Given the description of an element on the screen output the (x, y) to click on. 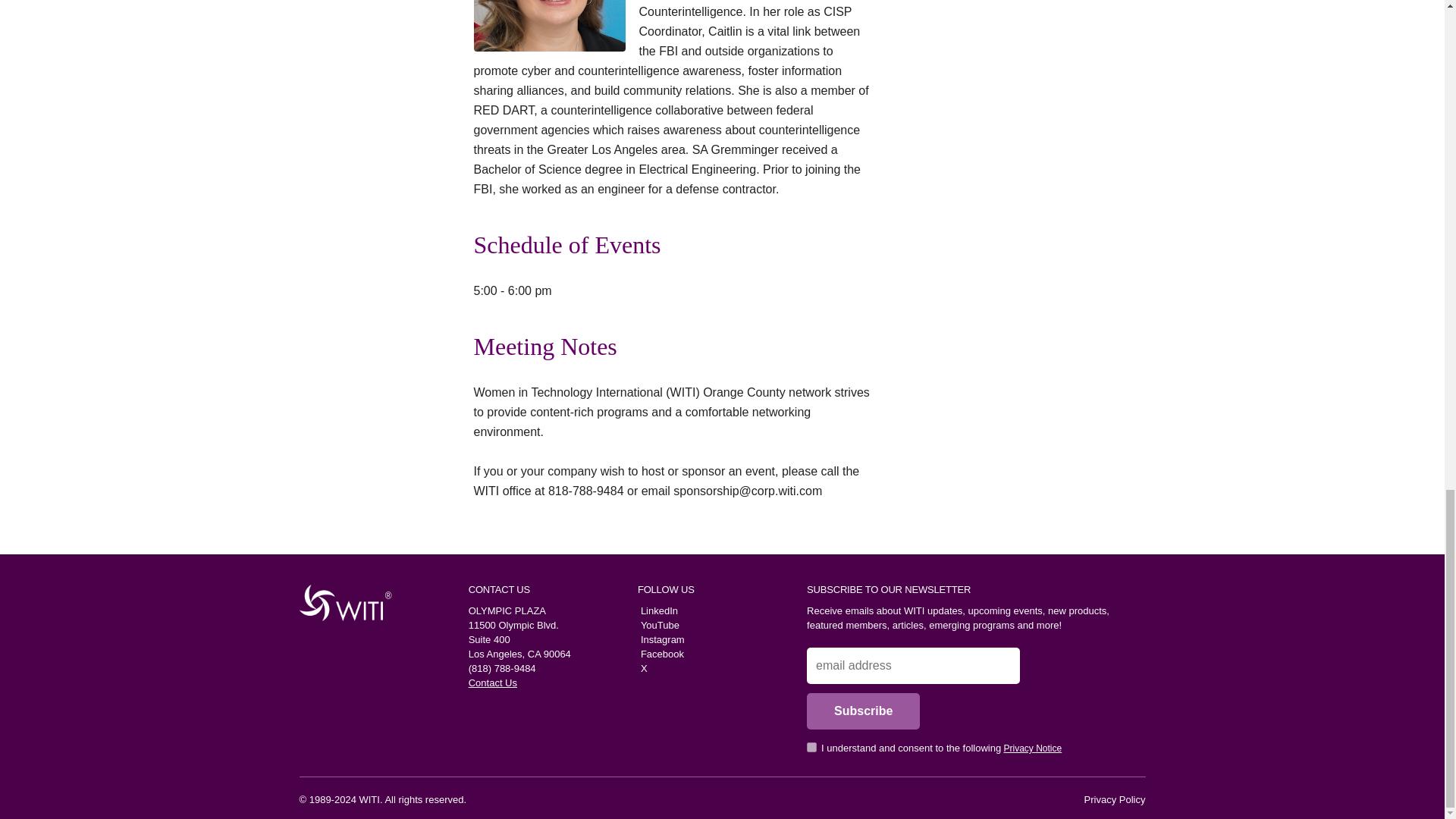
YouTube (658, 624)
LinkedIn (657, 610)
on (811, 747)
Contact Us (492, 682)
Privacy Notice (1033, 747)
Subscribe (863, 710)
Instagram (660, 639)
Workforce Innovation, Trust, and Influence (339, 601)
Subscribe (863, 710)
